Given the description of an element on the screen output the (x, y) to click on. 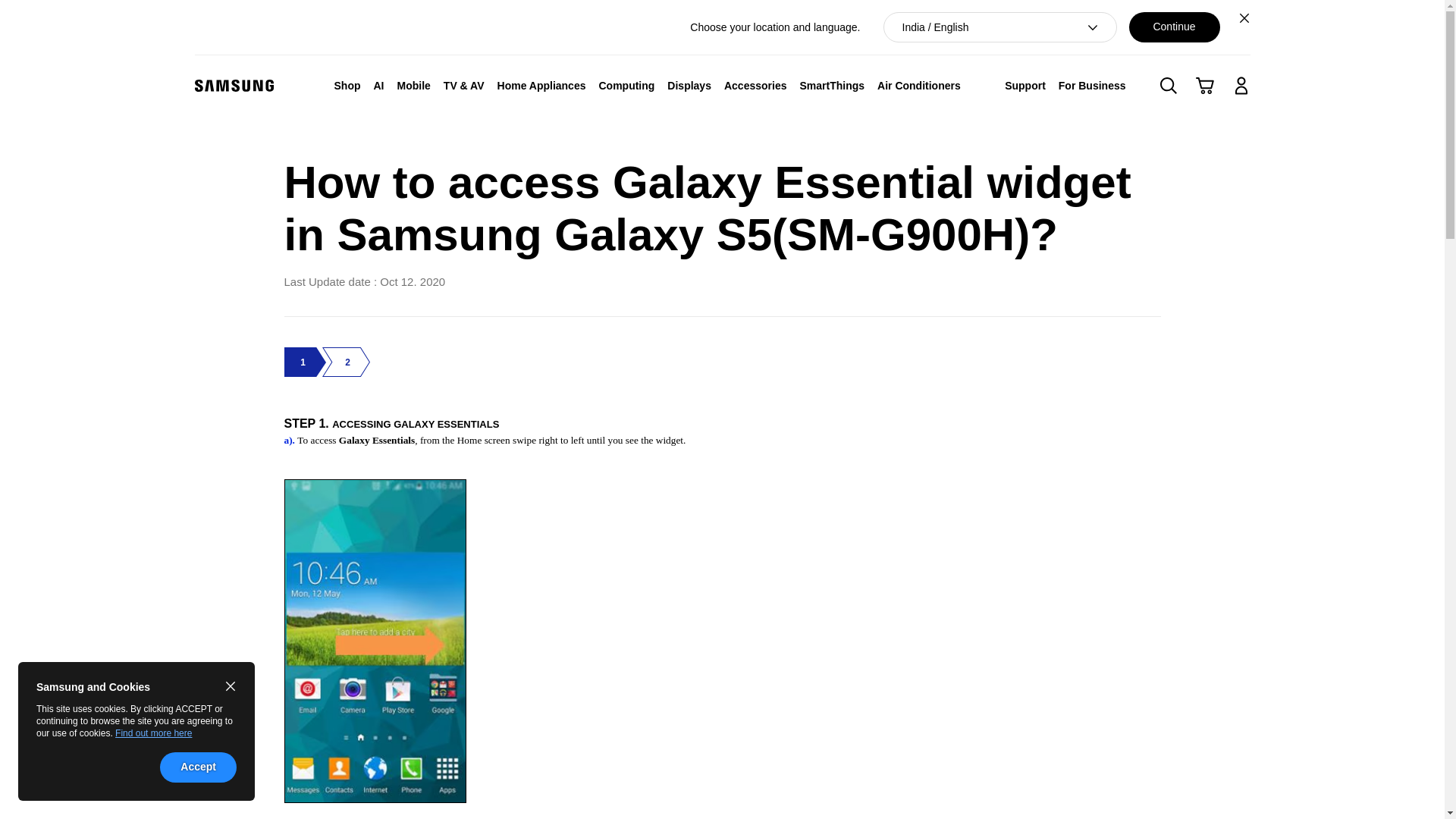
2 (346, 362)
Shop (346, 85)
Find out more here (153, 733)
Continue (1174, 27)
Close (1243, 17)
Accept (197, 767)
close (230, 686)
Accept (197, 767)
1 : selected (304, 362)
